Given the description of an element on the screen output the (x, y) to click on. 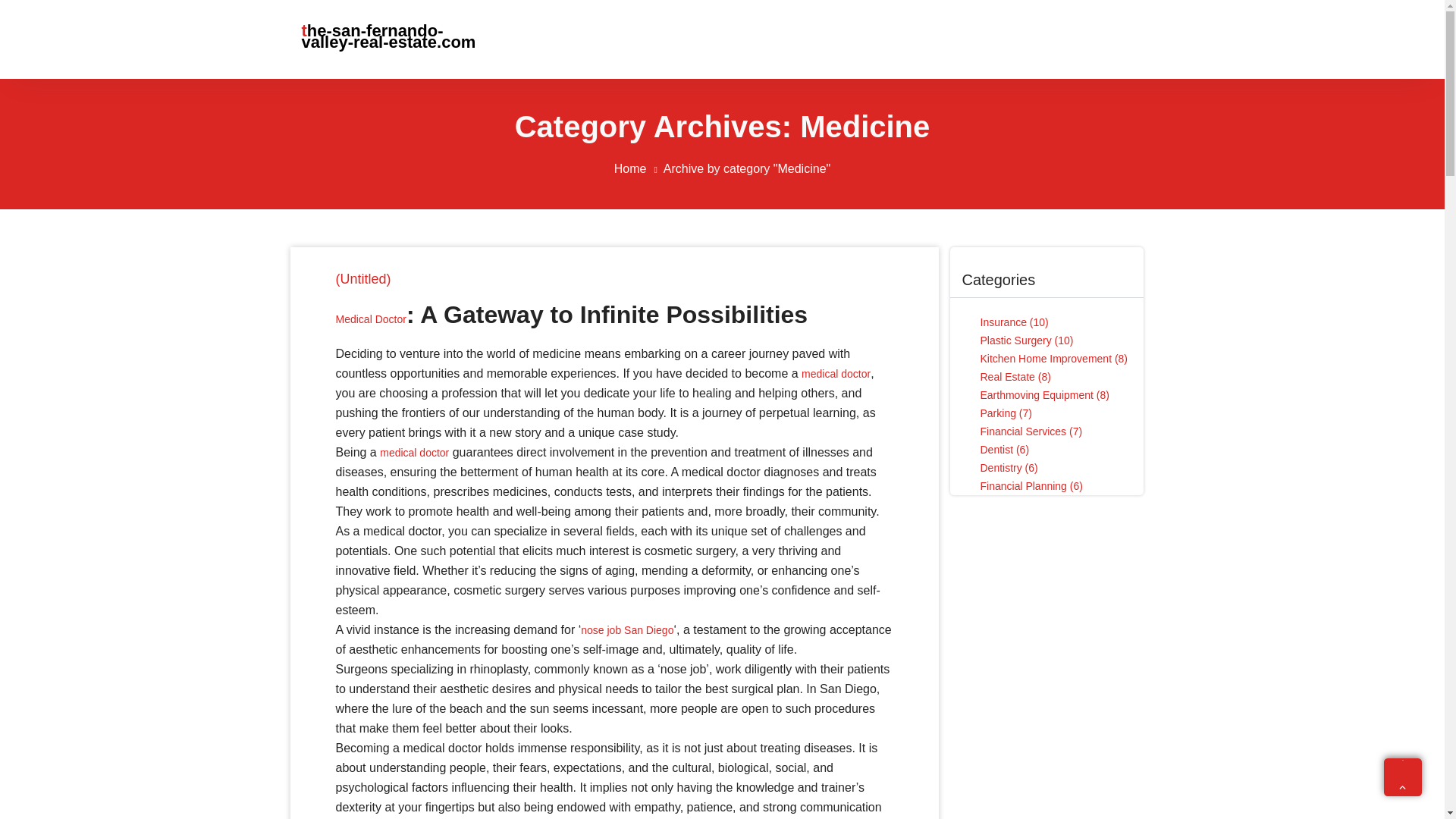
nose job San Diego (626, 630)
medical doctor (414, 452)
medical doctor (836, 373)
Medical Doctor (370, 318)
Home (638, 168)
the-san-fernando-valley-real-estate.com (398, 36)
